Given the description of an element on the screen output the (x, y) to click on. 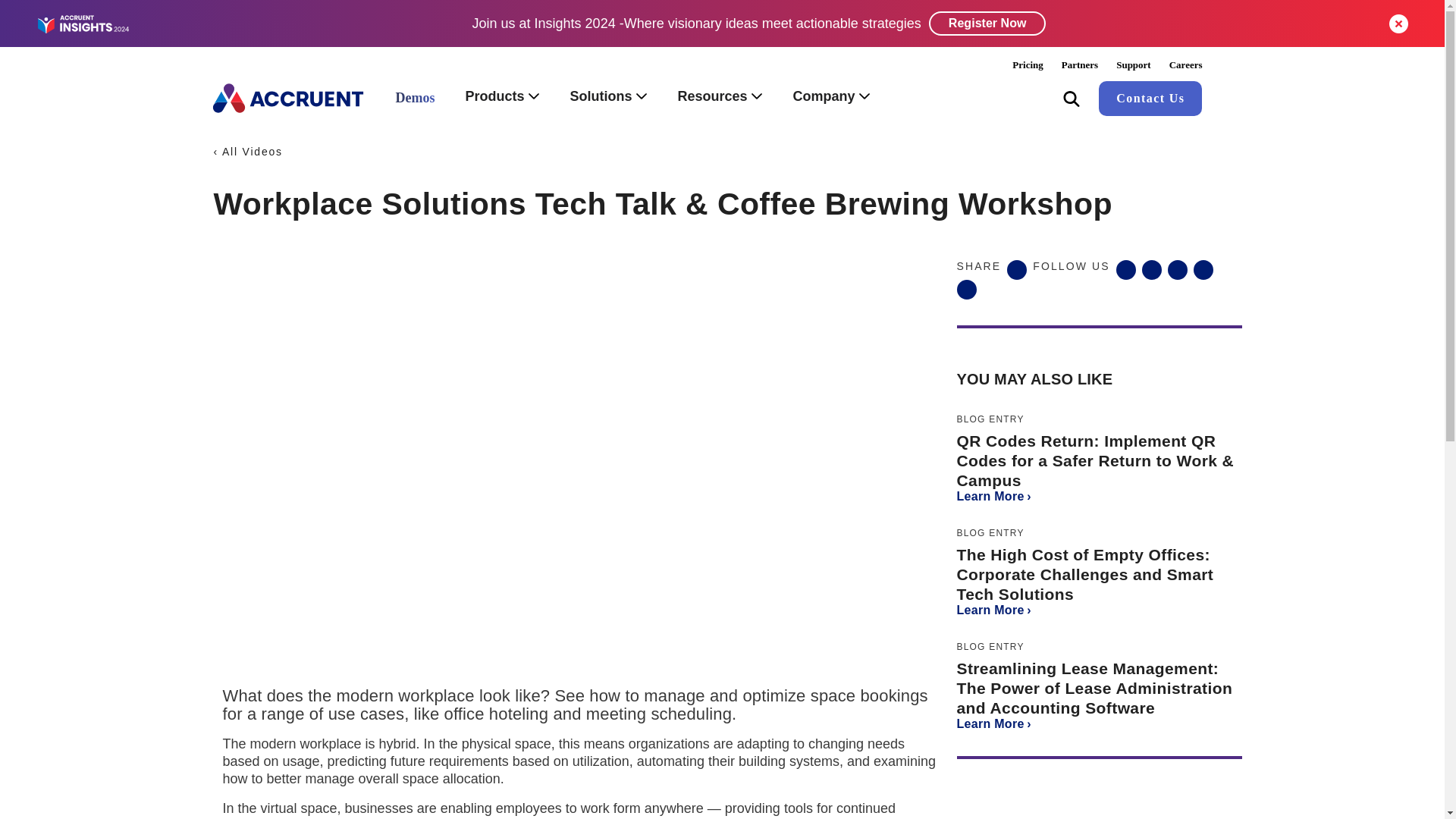
Pricing (1027, 64)
Demos (414, 97)
Products (501, 98)
Register Now (987, 23)
Support (1133, 64)
Partners (1079, 64)
Solutions (608, 98)
Careers (1185, 64)
